Given the description of an element on the screen output the (x, y) to click on. 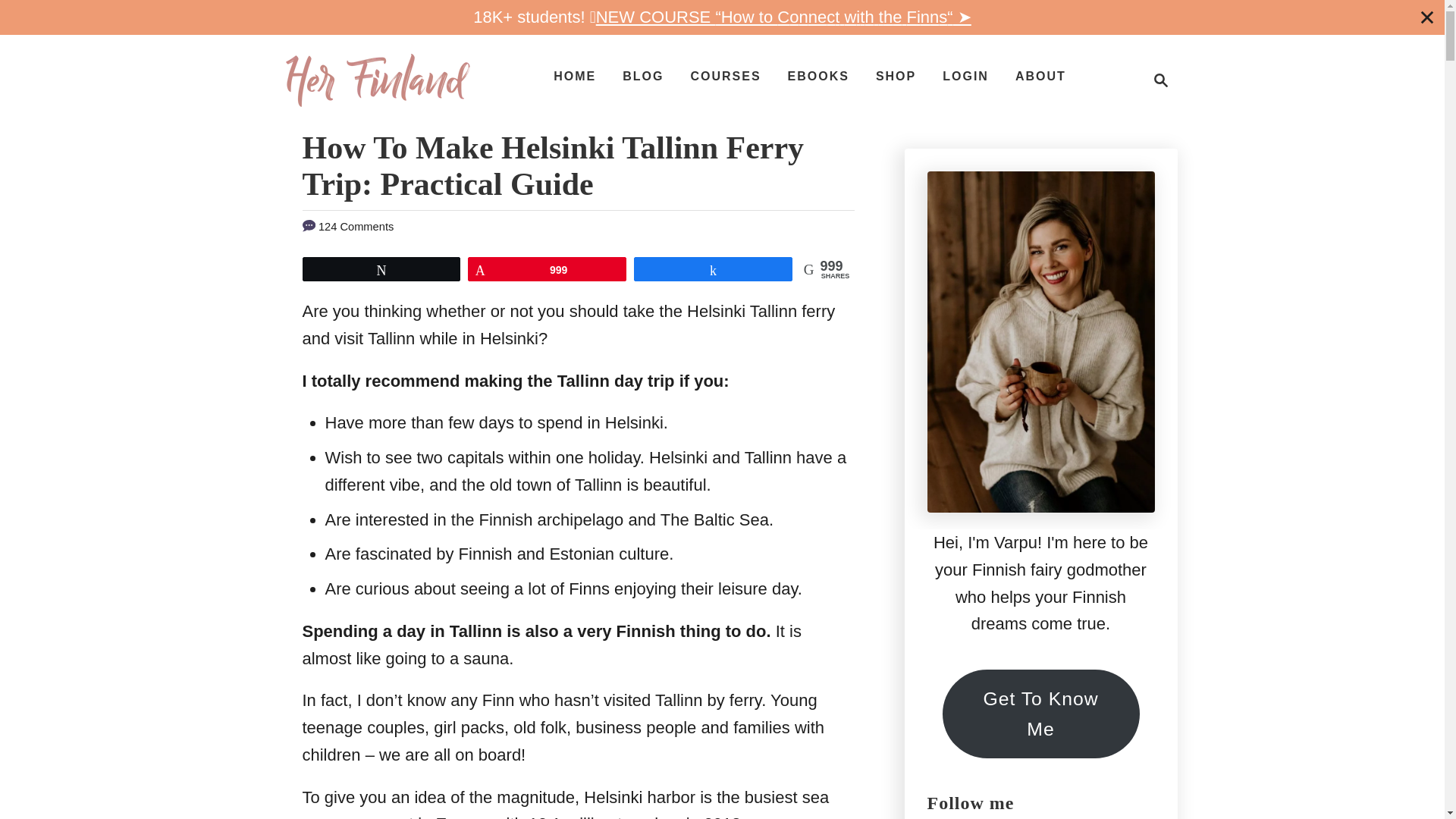
BLOG (642, 76)
999 (547, 268)
HOME (575, 76)
COURSES (725, 76)
LOGIN (964, 76)
Magnifying Glass (1160, 80)
Her Finland (376, 79)
EBOOKS (818, 76)
ABOUT (1040, 76)
SHOP (895, 76)
